Given the description of an element on the screen output the (x, y) to click on. 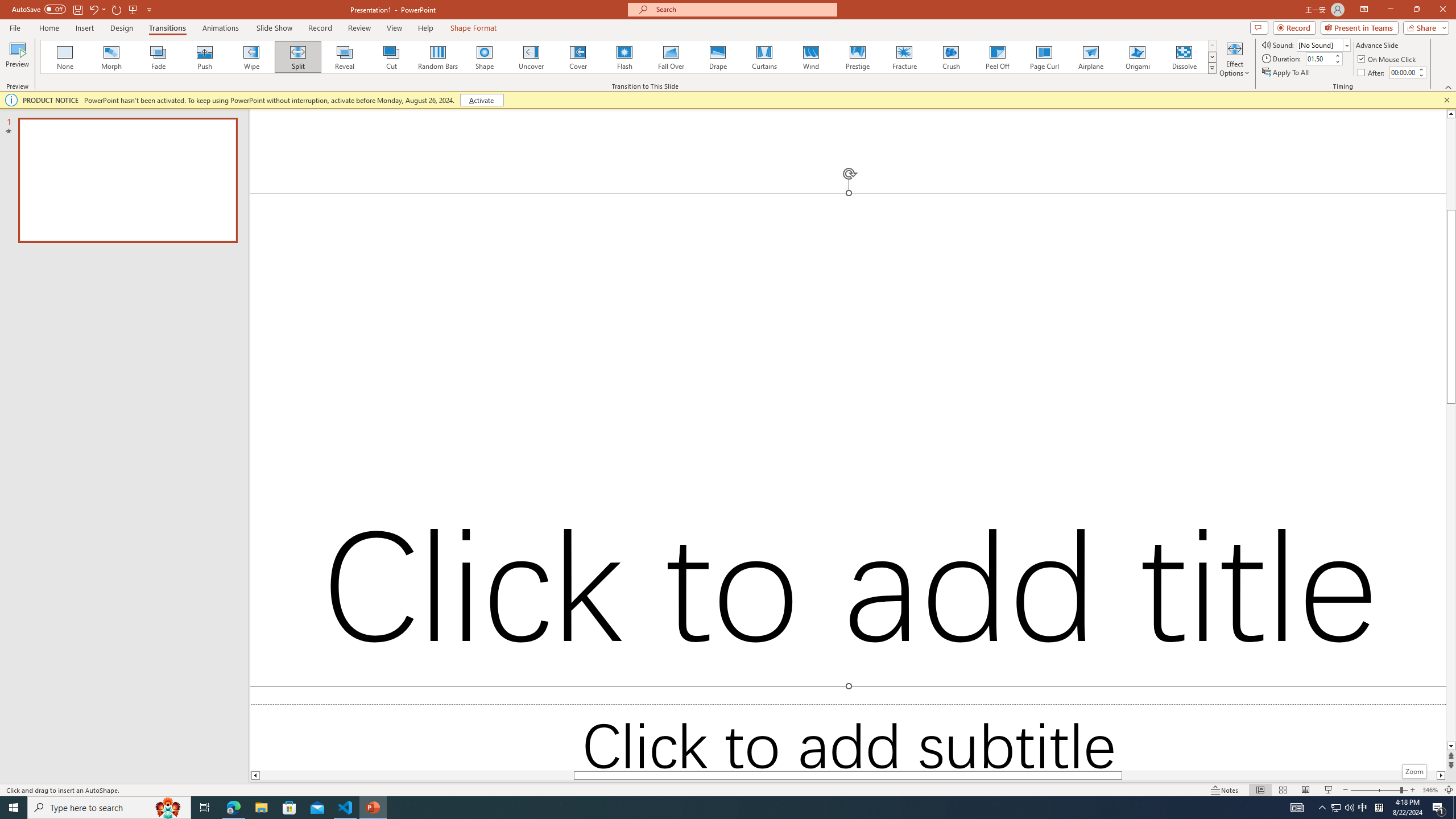
Airplane (1090, 56)
On Mouse Click (1387, 58)
Morph (111, 56)
Curtains (764, 56)
Effect Options (1234, 58)
